Given the description of an element on the screen output the (x, y) to click on. 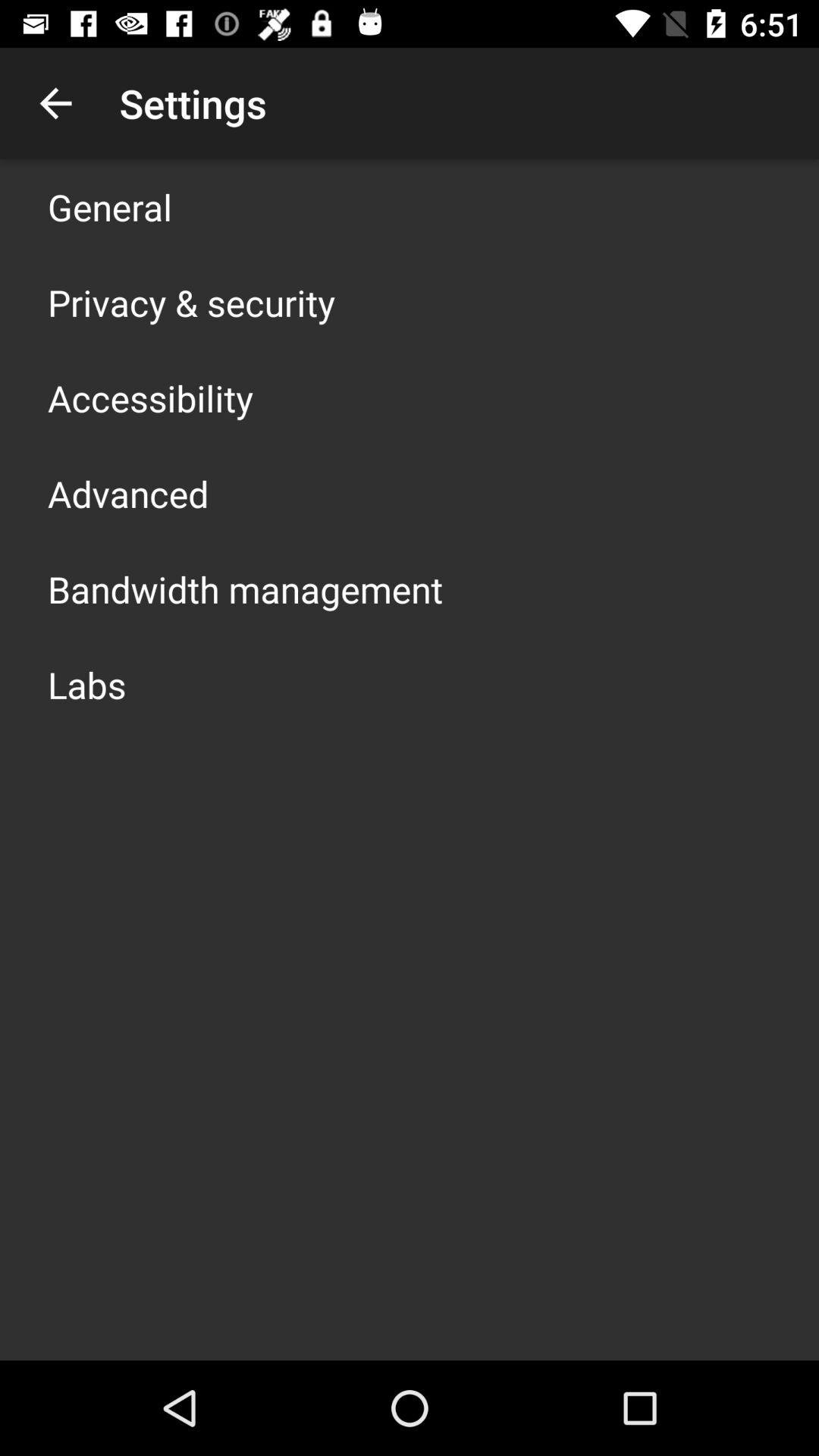
scroll until labs item (86, 684)
